Given the description of an element on the screen output the (x, y) to click on. 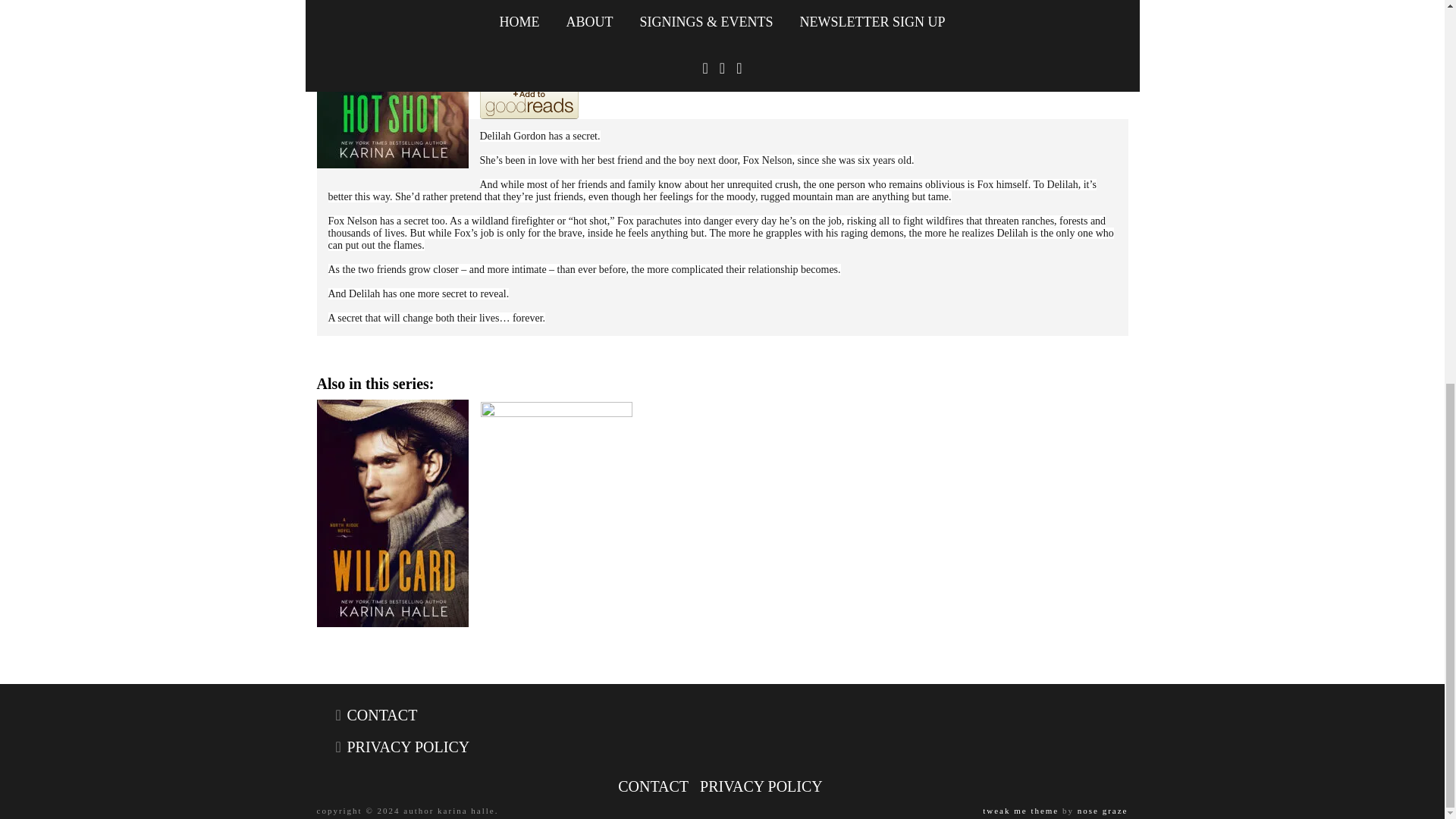
CONTEMPORARY ROMANCE (630, 51)
